Given the description of an element on the screen output the (x, y) to click on. 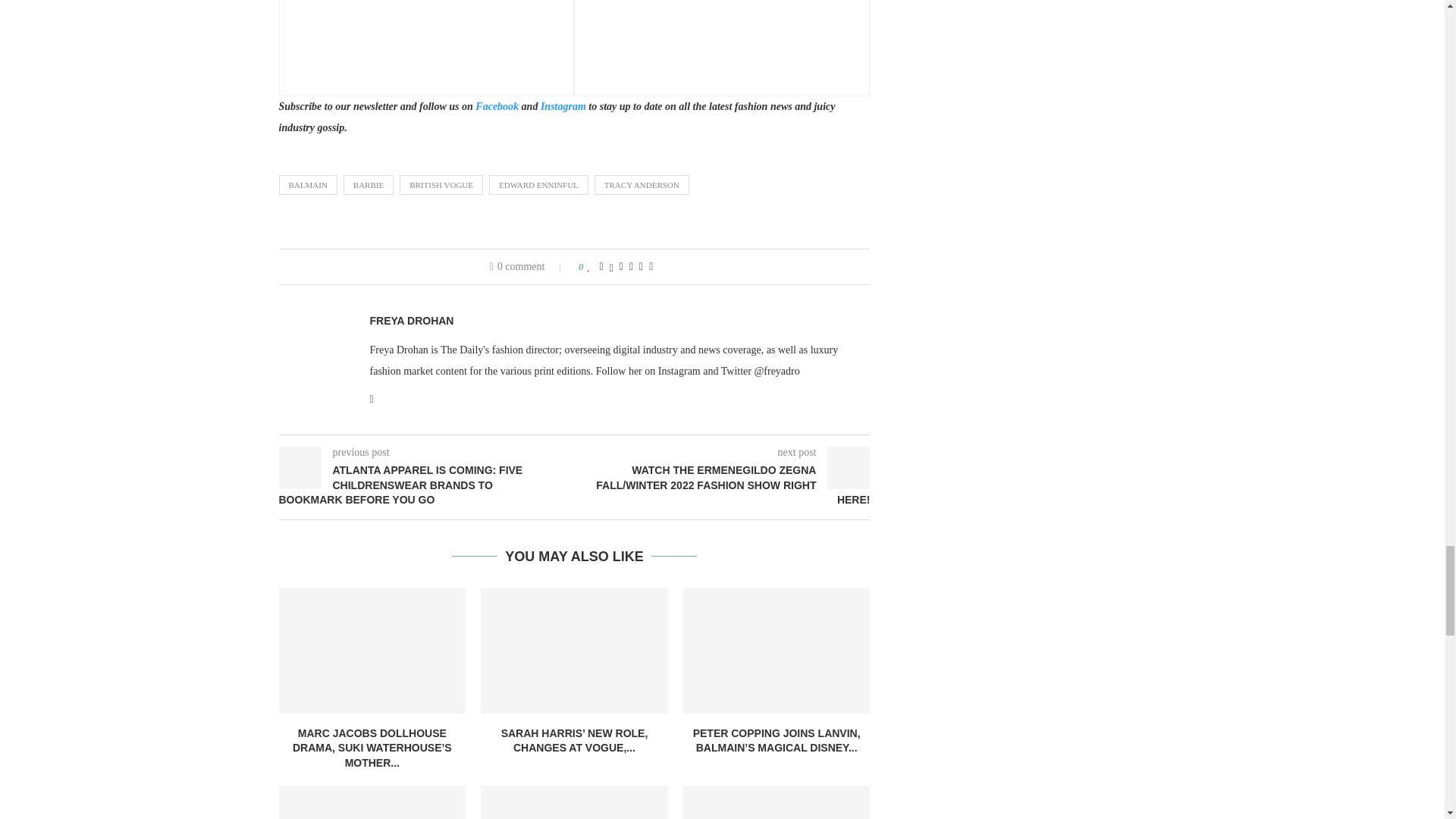
Author Freya Drohan (411, 320)
